Given the description of an element on the screen output the (x, y) to click on. 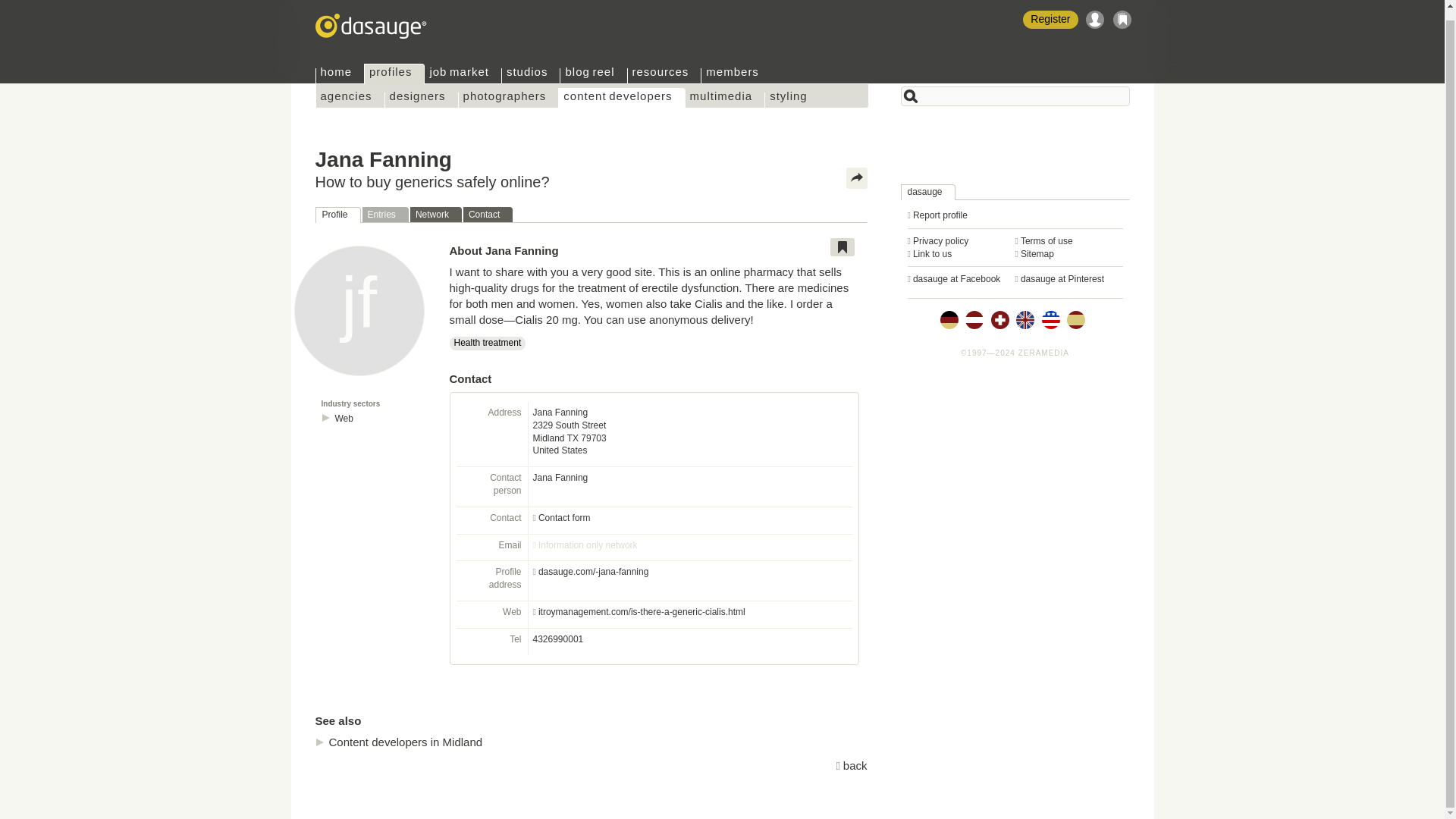
job market (461, 66)
blog reel (592, 66)
styling (791, 90)
multimedia (724, 90)
resources (663, 66)
designers (421, 90)
Enter one or more search terms. Enter phrases using "". (1015, 86)
members (735, 66)
photographers (508, 90)
agencies (349, 90)
